Given the description of an element on the screen output the (x, y) to click on. 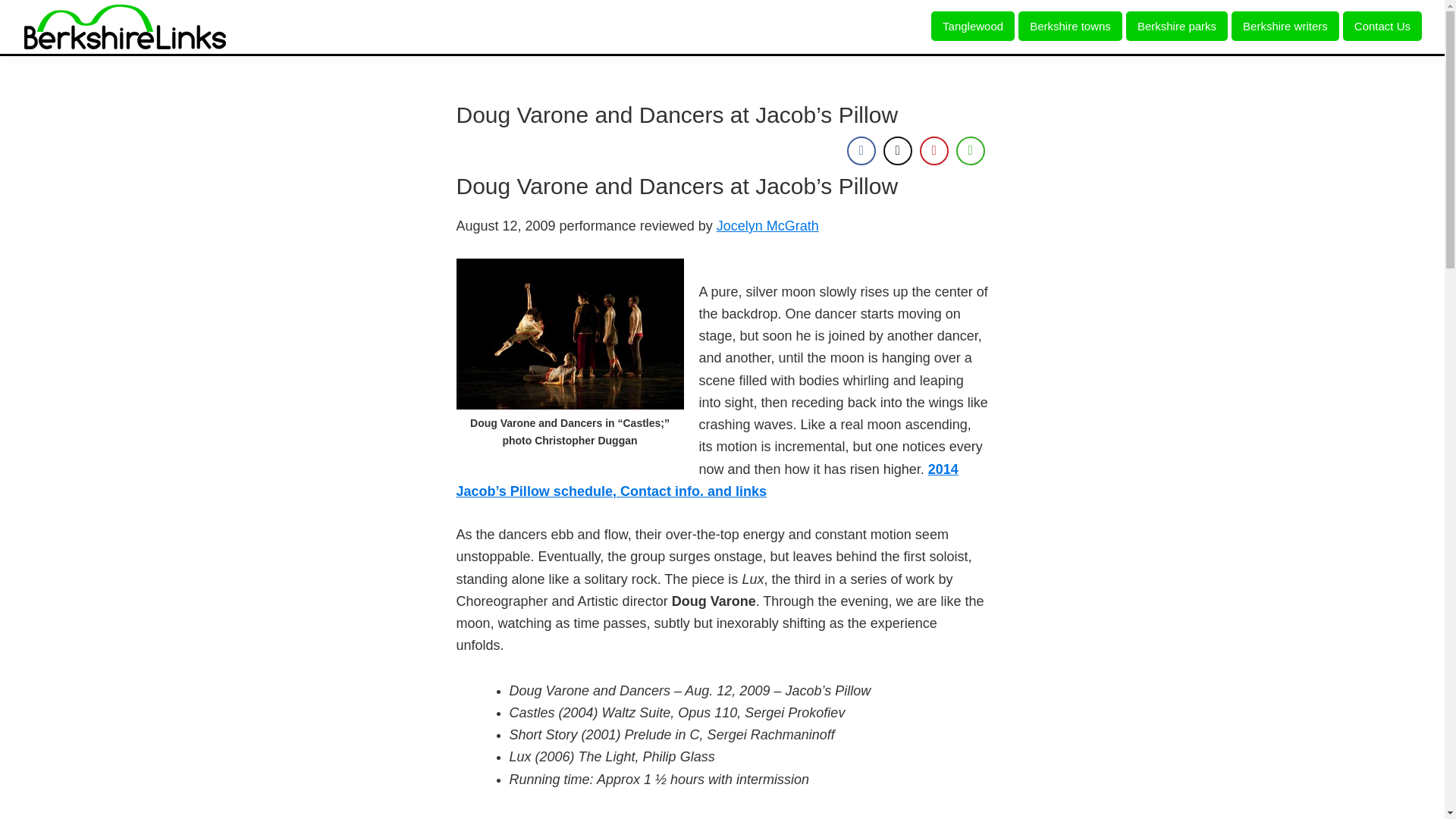
Contact Us (1382, 25)
Berkshire parks (1176, 25)
Tanglewood (972, 25)
Berkshire towns (1069, 25)
Jacob's Pillow Contact info. and links (707, 479)
Berkshire writers (1285, 25)
Jocelyn McGrath (767, 225)
